Given the description of an element on the screen output the (x, y) to click on. 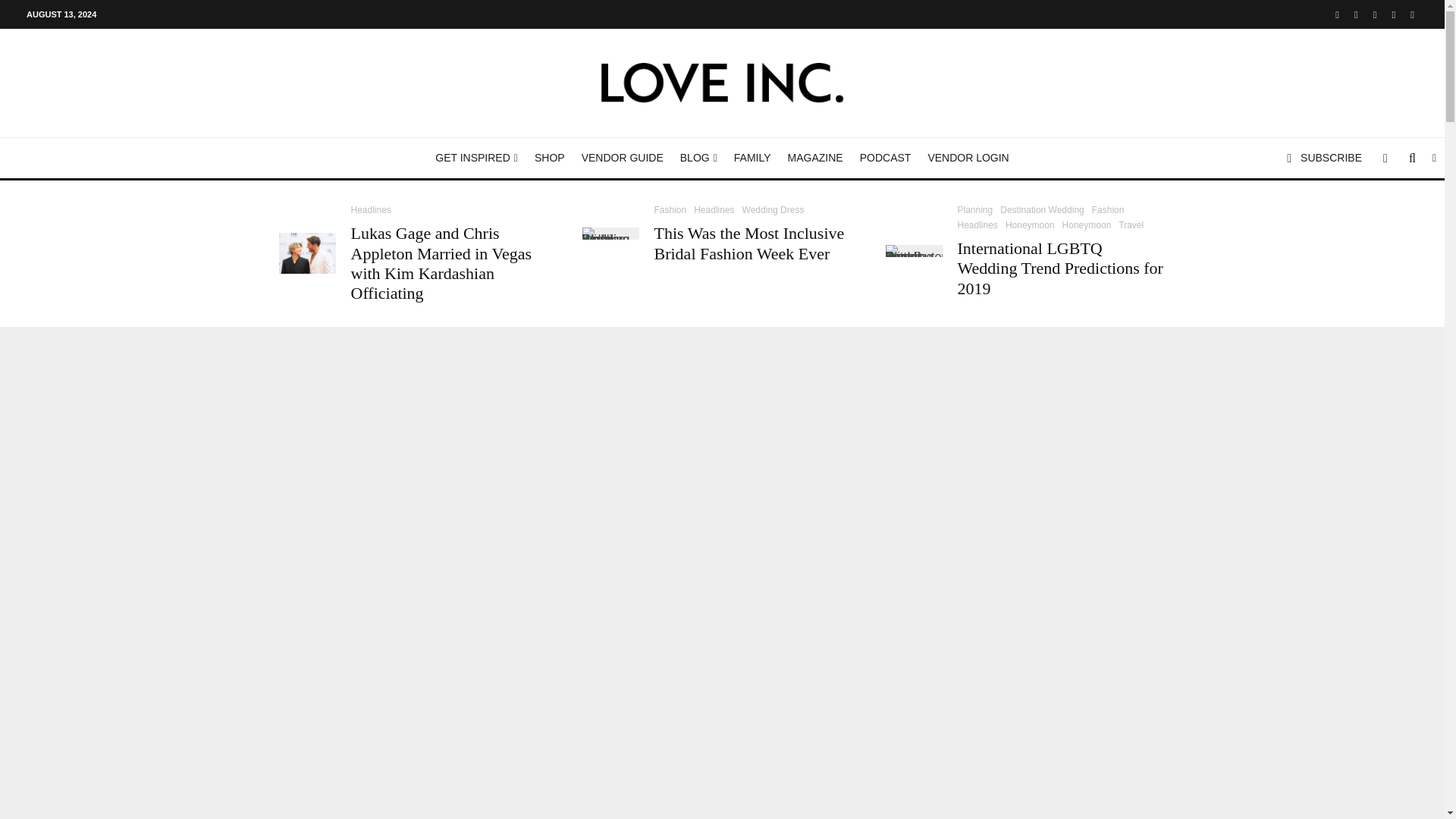
VENDOR GUIDE (622, 158)
Inclusive Wedding Bridal Fashion Week (610, 233)
PODCAST (885, 158)
GET INSPIRED (475, 158)
MAGAZINE (814, 158)
BLOG (698, 158)
SUBSCRIBE (1324, 158)
Wedding Trend Report Contributor Brittny Drye (913, 250)
VENDOR LOGIN (967, 158)
Lukas Gage and Chris Appleton Married (307, 252)
